Given the description of an element on the screen output the (x, y) to click on. 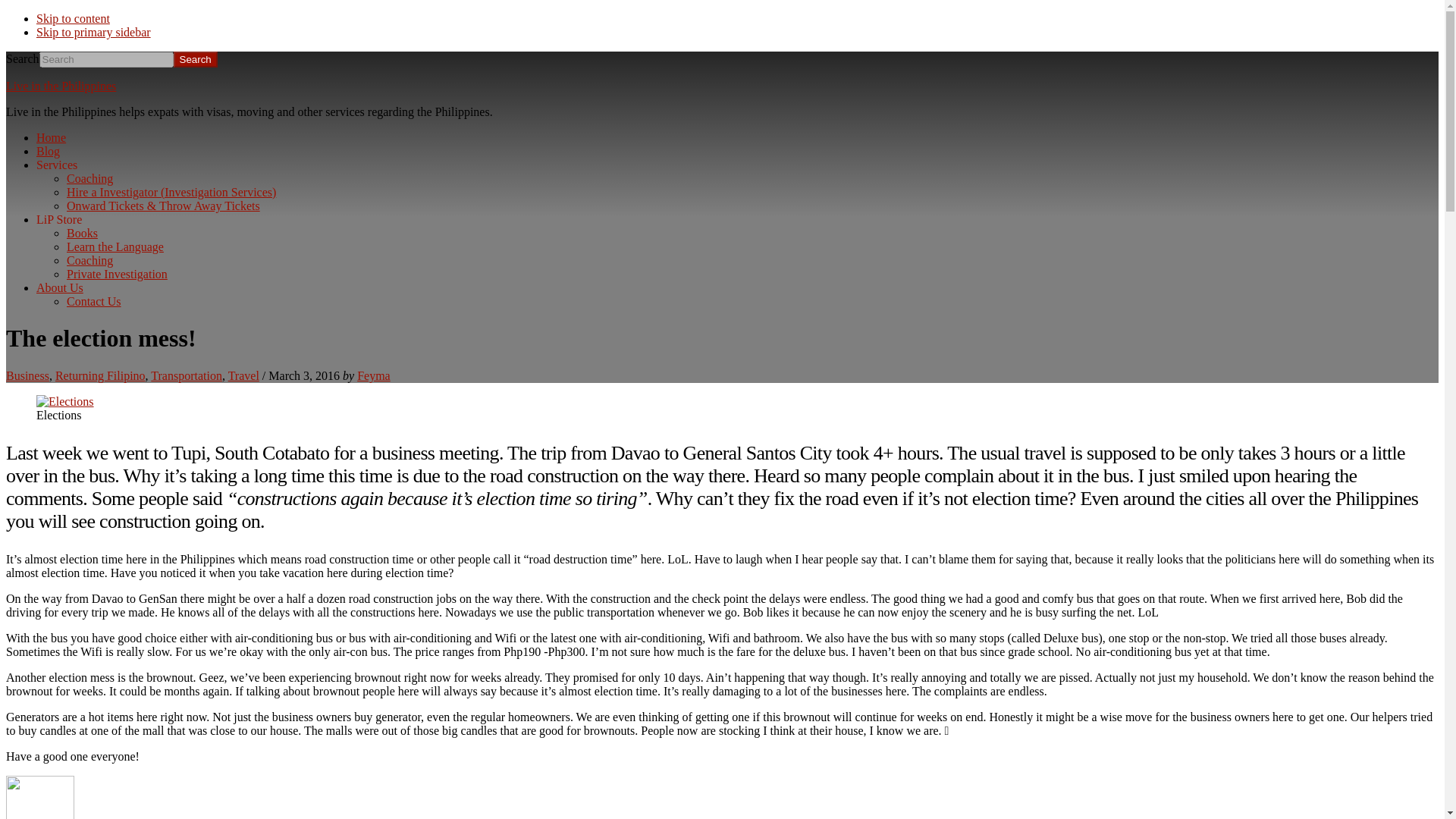
Contact Us (93, 300)
About Us (59, 287)
Search (194, 59)
Returning Filipino (100, 375)
Books (81, 232)
Transportation (186, 375)
Skip to content (73, 18)
Services (56, 164)
Search (194, 59)
Home (50, 137)
Search (194, 59)
Coaching (89, 259)
Coaching (89, 178)
Skip to primary sidebar (93, 31)
Private Investigation (116, 273)
